Given the description of an element on the screen output the (x, y) to click on. 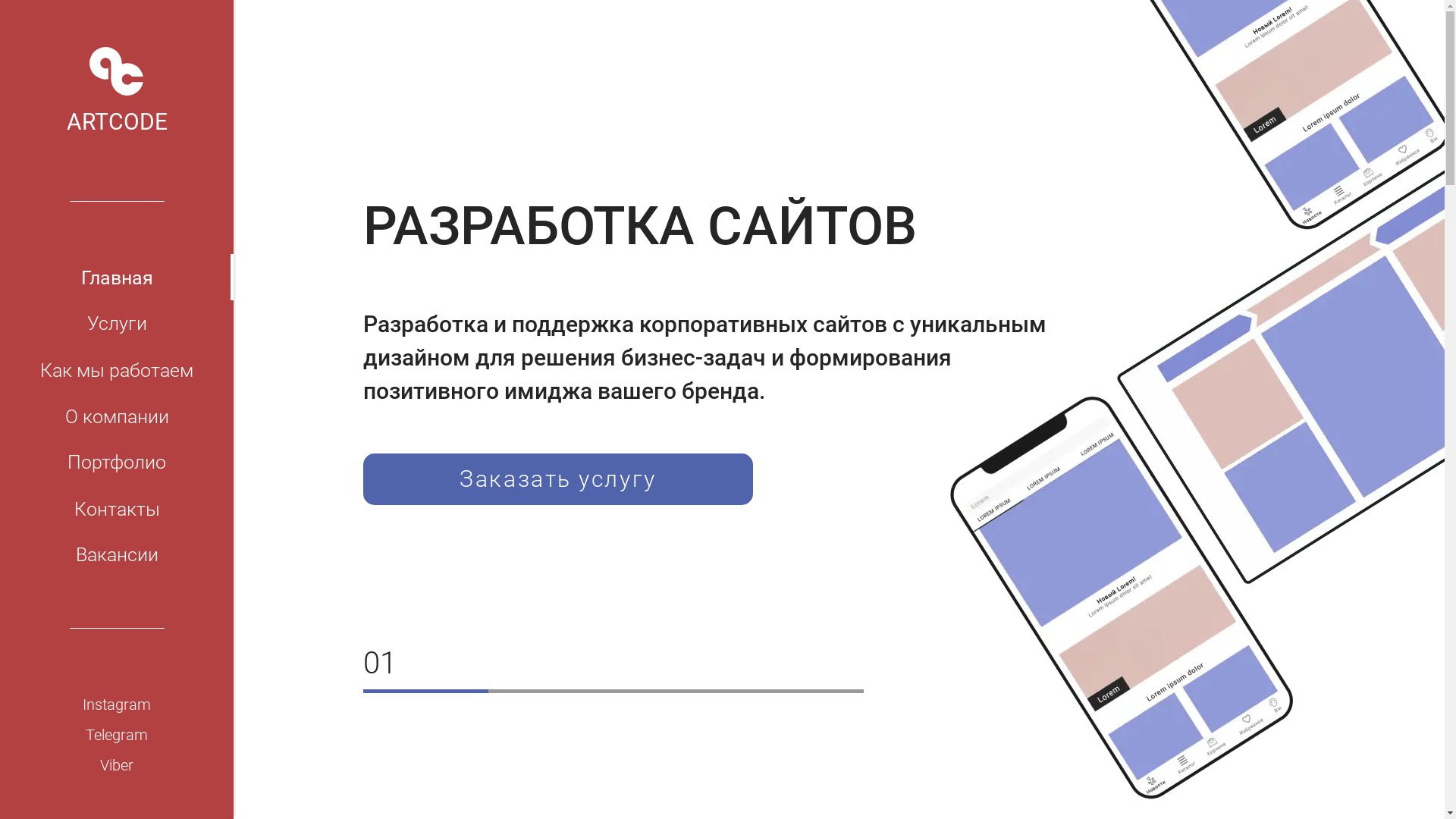
Viber Element type: text (116, 764)
ARTCODE Element type: text (116, 90)
Instagram Element type: text (116, 704)
Telegram Element type: text (116, 734)
